Given the description of an element on the screen output the (x, y) to click on. 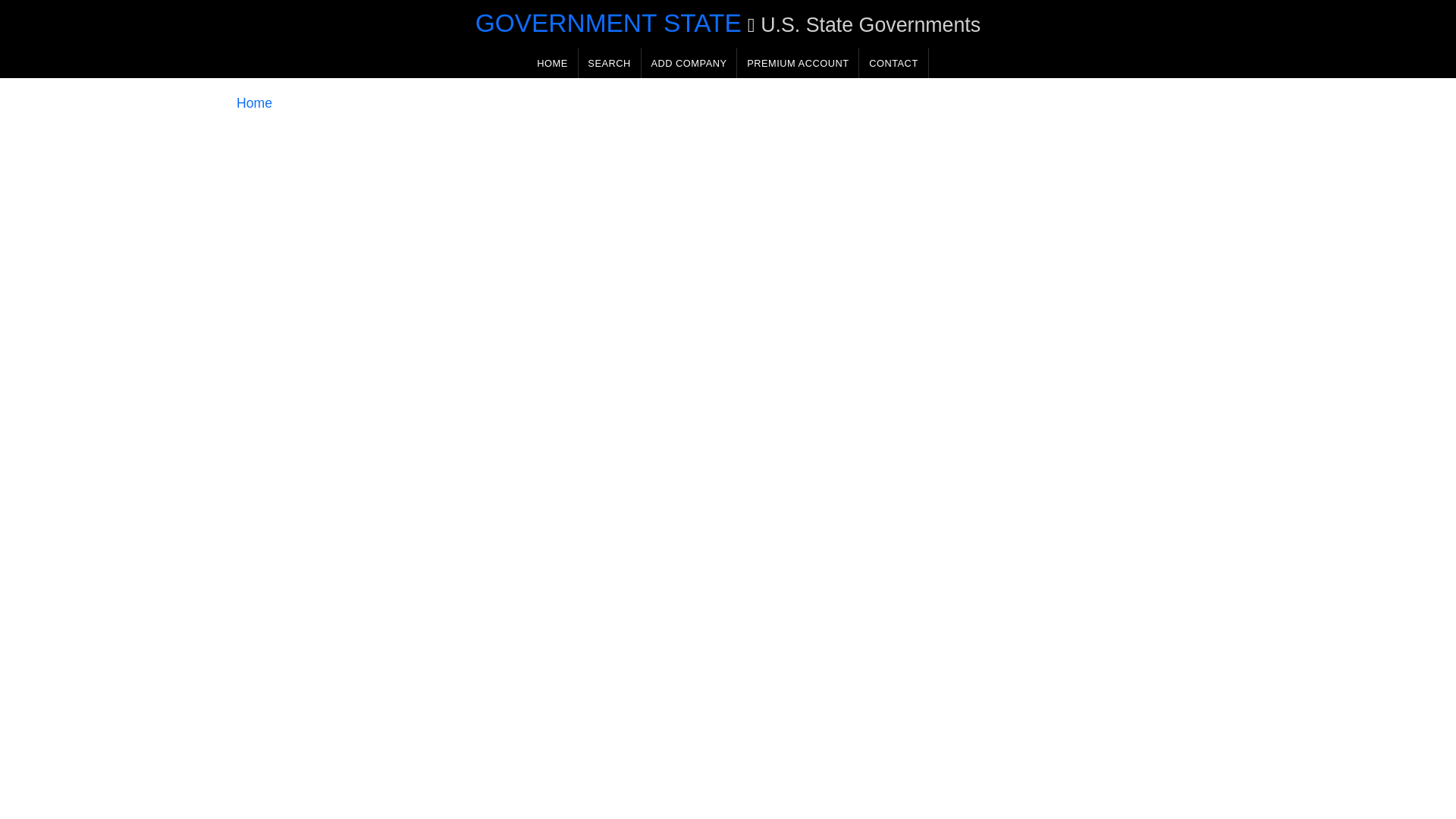
SEARCH (609, 62)
GOVERNMENT STATE (608, 22)
Add a new company (689, 62)
HOME (551, 62)
CONTACT (893, 62)
Home (253, 102)
PREMIUM ACCOUNT (797, 62)
Search in this webseite. (609, 62)
ADD COMPANY (689, 62)
Premium account (797, 62)
